Given the description of an element on the screen output the (x, y) to click on. 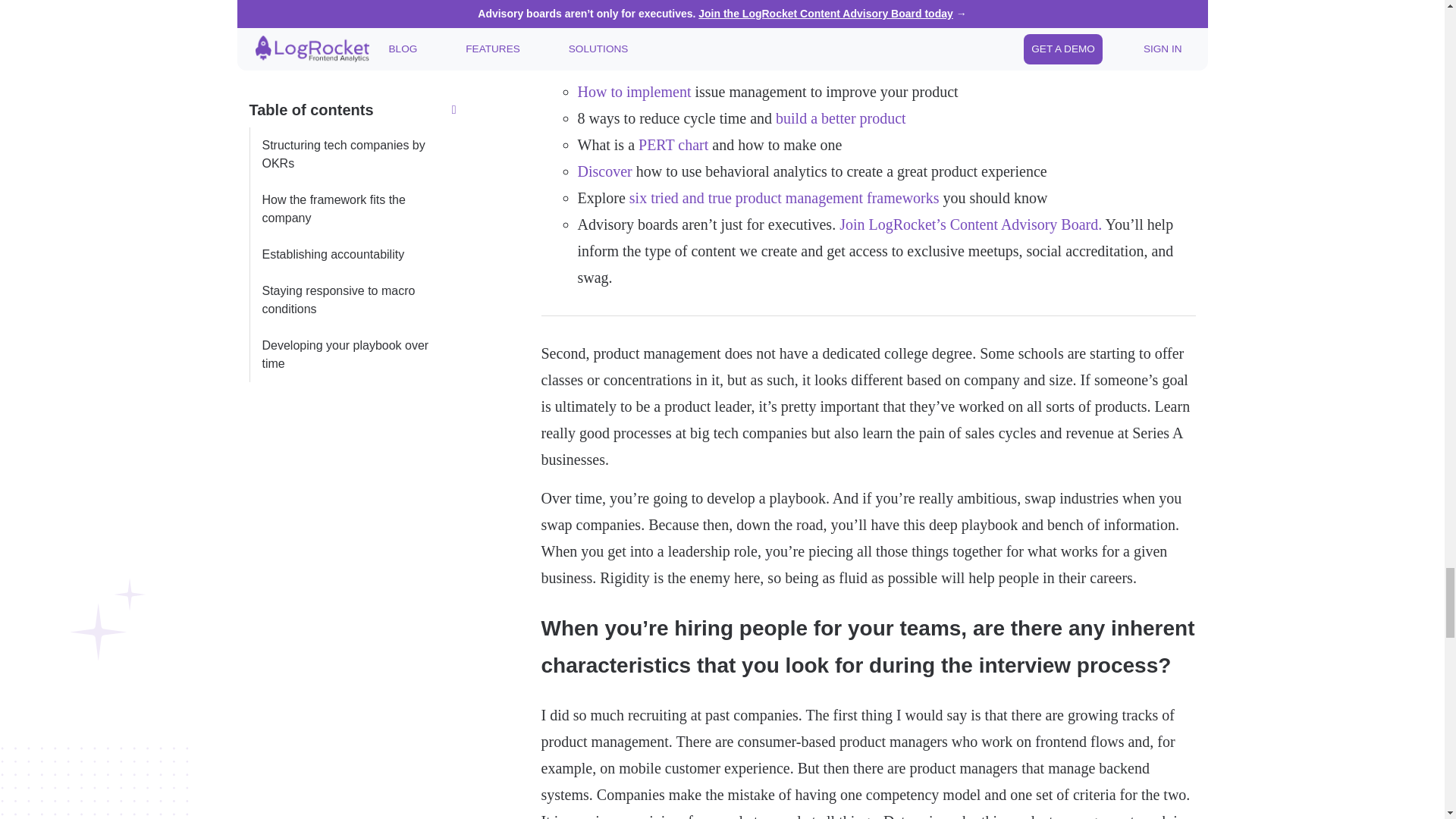
build a better product (840, 117)
six tried and true product management frameworks (783, 197)
How to implement (634, 91)
PERT chart (673, 144)
Discover (604, 170)
